Given the description of an element on the screen output the (x, y) to click on. 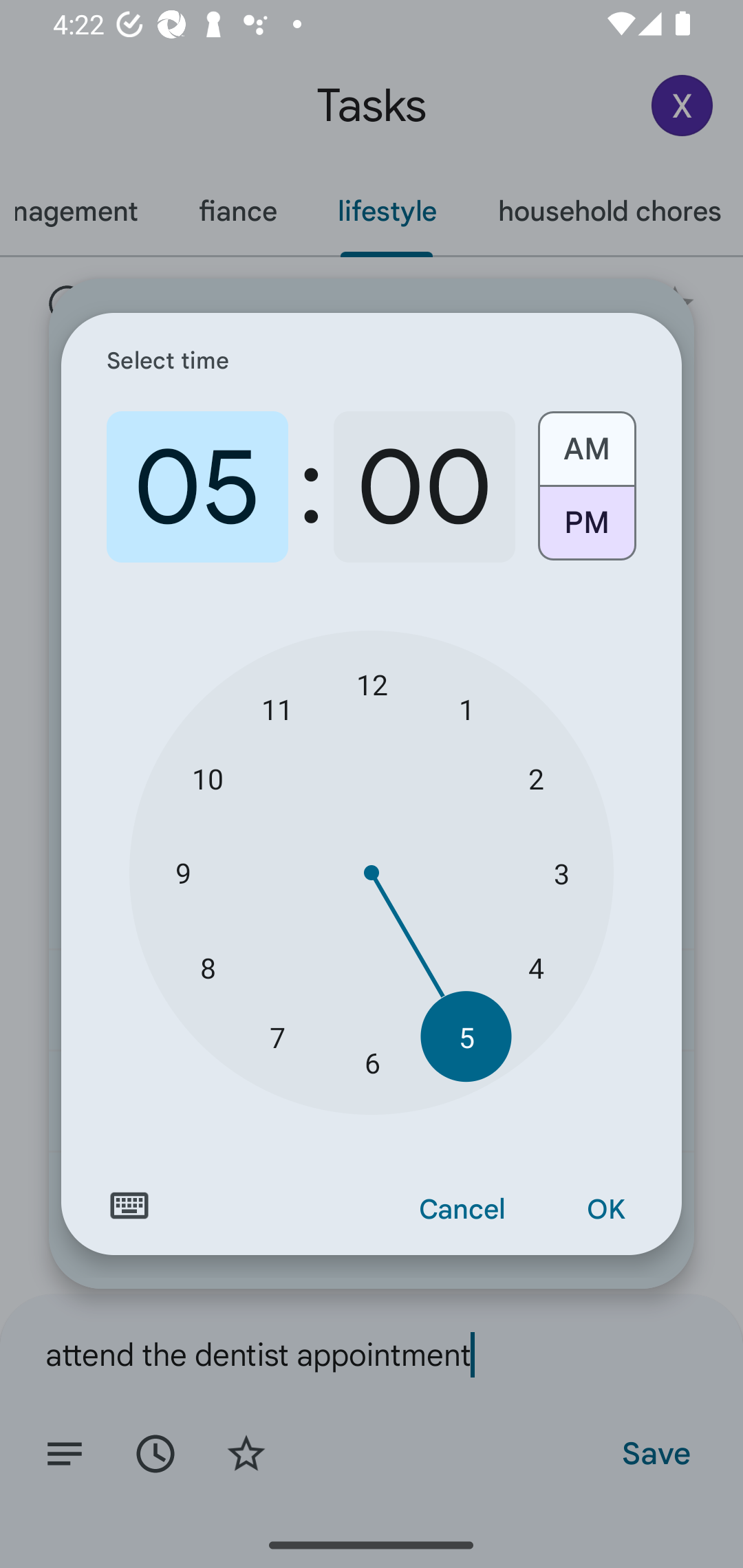
AM (586, 441)
05 5 o'clock (197, 486)
00 0 minutes (424, 486)
PM (586, 529)
12 12 o'clock (371, 683)
11 11 o'clock (276, 708)
1 1 o'clock (466, 708)
10 10 o'clock (207, 778)
2 2 o'clock (535, 778)
9 9 o'clock (182, 872)
3 3 o'clock (561, 872)
8 8 o'clock (207, 966)
4 4 o'clock (535, 966)
7 7 o'clock (276, 1035)
5 5 o'clock (466, 1035)
6 6 o'clock (371, 1062)
Switch to text input mode for the time input. (128, 1205)
Cancel (462, 1209)
OK (605, 1209)
